Given the description of an element on the screen output the (x, y) to click on. 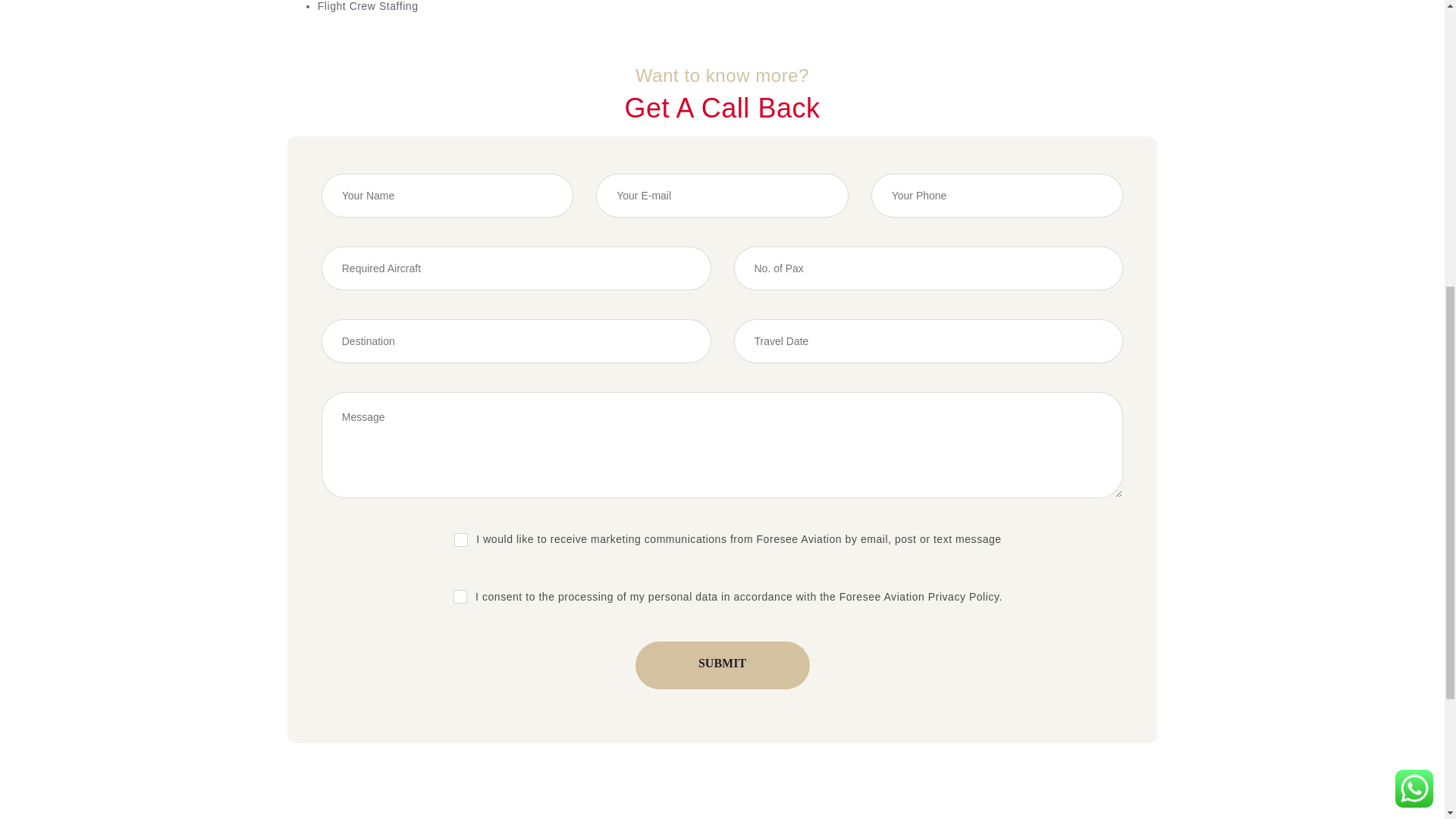
Submit (721, 665)
Submit (721, 665)
